Given the description of an element on the screen output the (x, y) to click on. 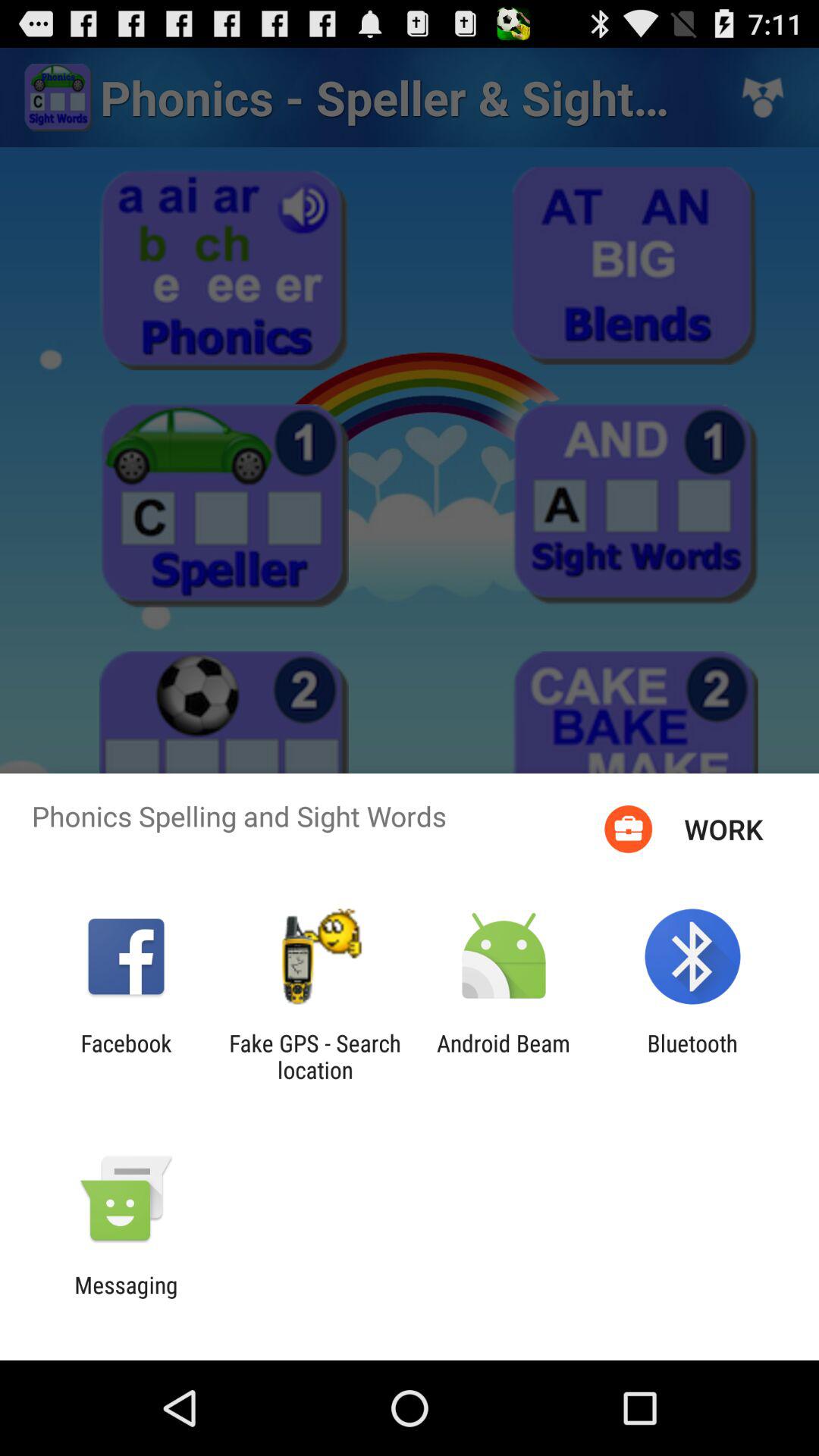
swipe until the messaging icon (126, 1298)
